Given the description of an element on the screen output the (x, y) to click on. 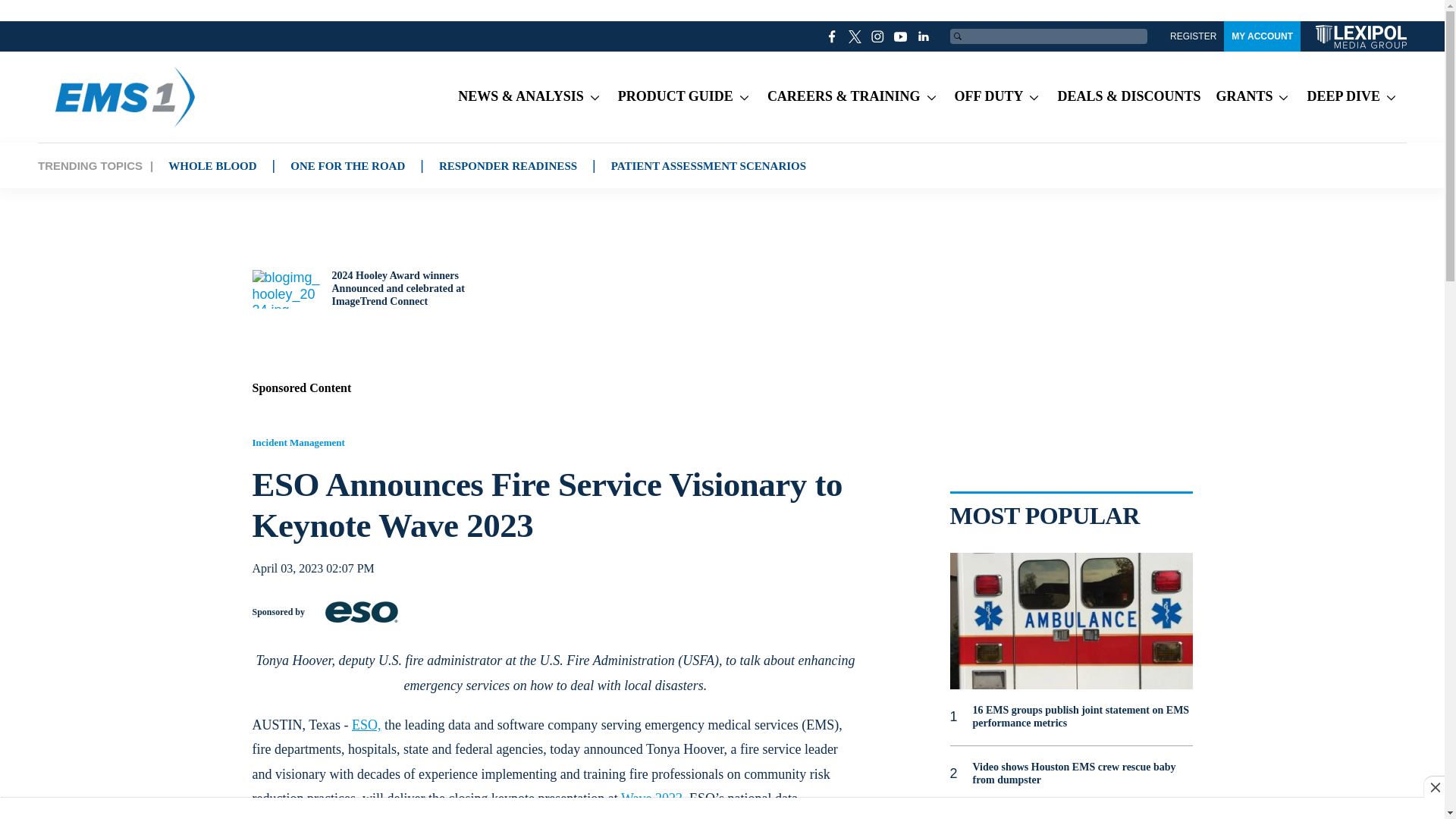
MY ACCOUNT (1262, 36)
facebook (832, 36)
REGISTER (1192, 36)
youtube (900, 36)
instagram (877, 36)
twitter (855, 36)
linkedin (923, 36)
